Given the description of an element on the screen output the (x, y) to click on. 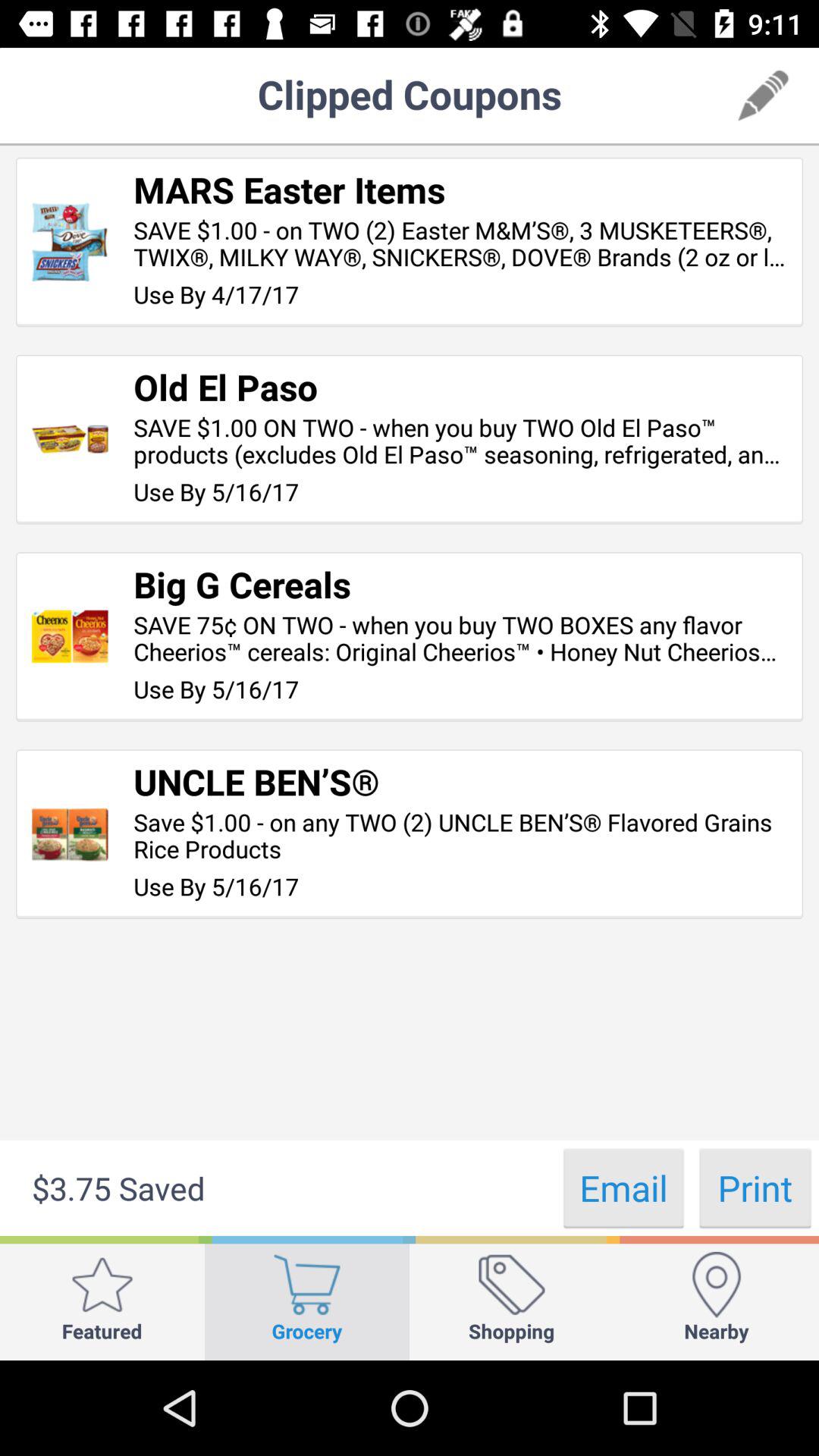
turn on the item to the left of the print icon (623, 1187)
